Given the description of an element on the screen output the (x, y) to click on. 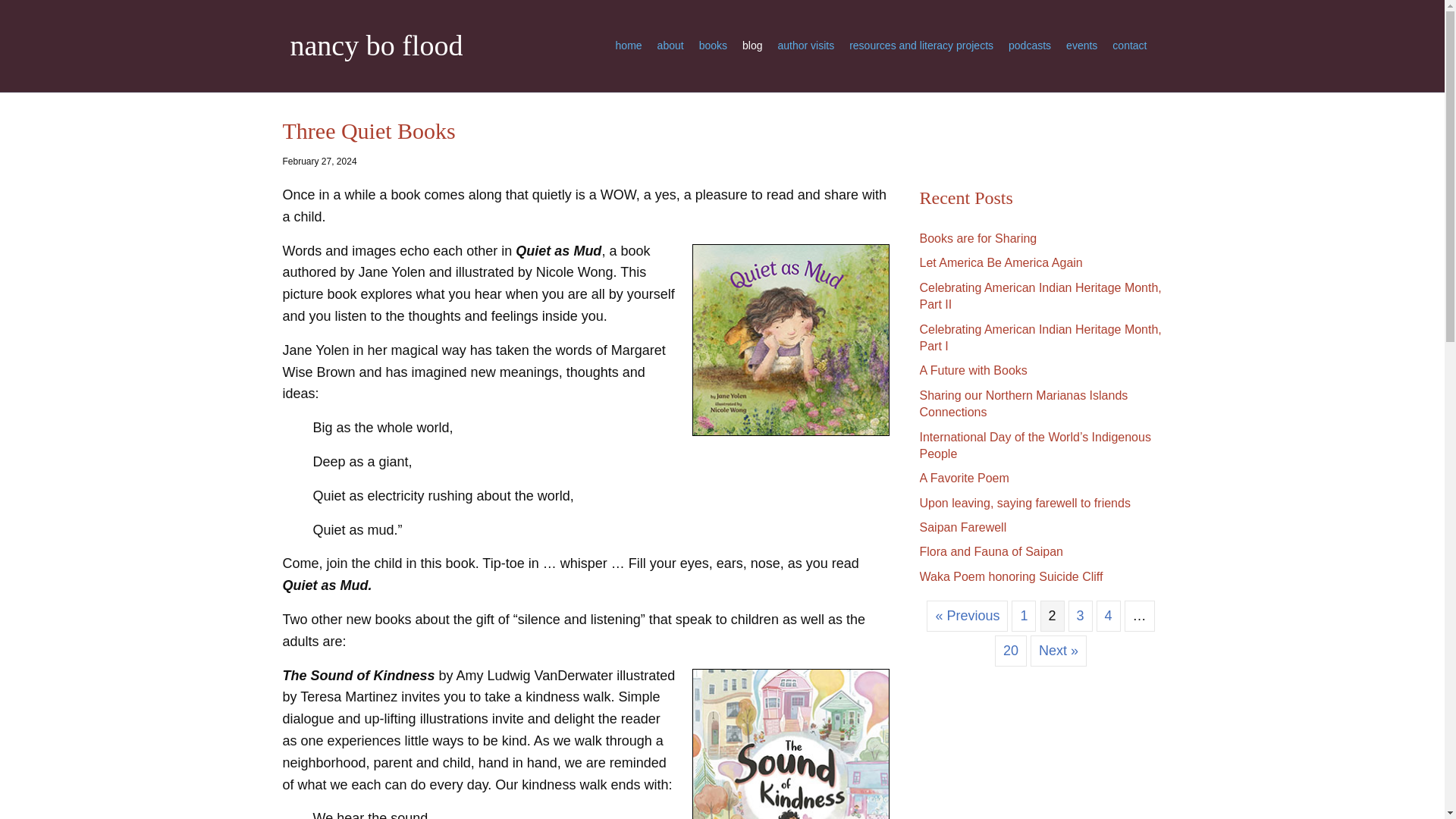
Books are for Sharing (977, 237)
A Favorite Poem (963, 477)
Waka Poem honoring Suicide Cliff (1010, 576)
A Future with Books (972, 369)
Sharing our Northern Marianas Islands Connections (1022, 403)
Celebrating American Indian Heritage Month, Part I (1039, 337)
Saipan Farewell (962, 526)
Upon leaving, saying farewell to friends (1023, 502)
podcasts (1029, 46)
20 (1010, 650)
books (713, 46)
Saipan Farewell (962, 526)
Books are for Sharing (977, 237)
nancy bo flood (427, 45)
Celebrating American Indian Heritage Month, Part II (1039, 296)
